Given the description of an element on the screen output the (x, y) to click on. 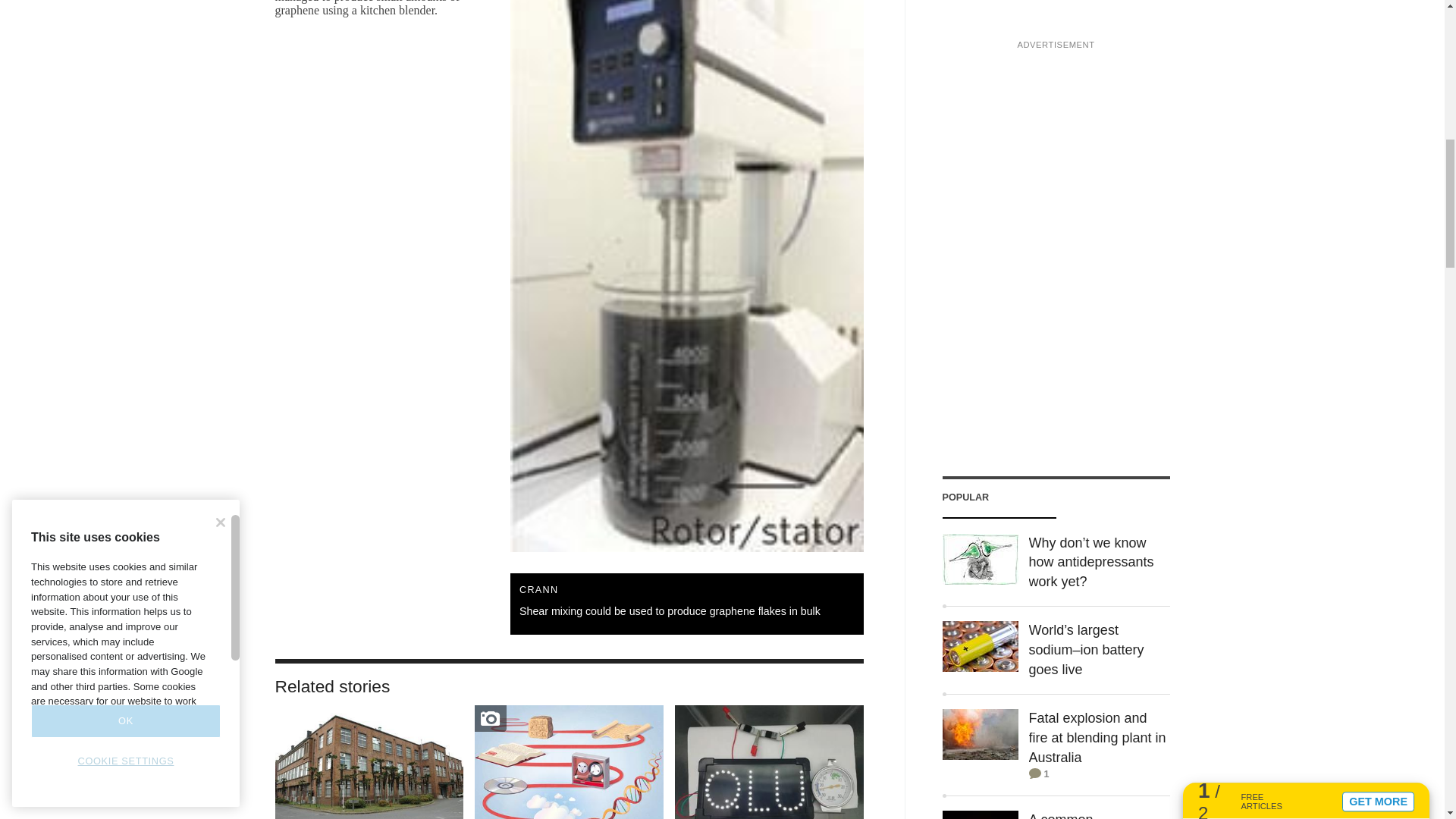
3rd party ad content (1055, 16)
